Given the description of an element on the screen output the (x, y) to click on. 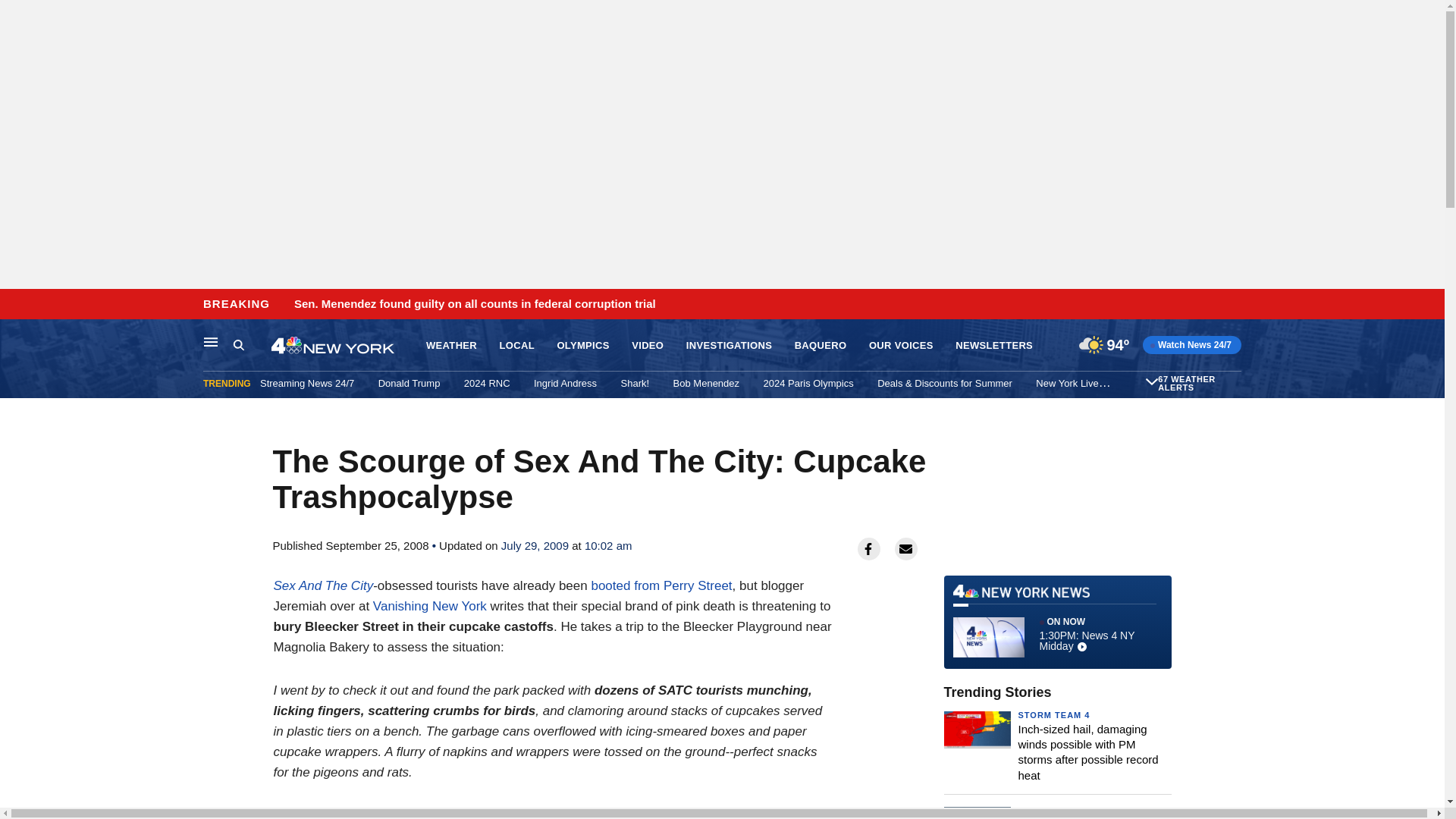
LOCAL (516, 345)
BAQUERO (820, 345)
INVESTIGATIONS (728, 345)
Donald Trump (409, 383)
NEWSLETTERS (993, 345)
Open House (1149, 383)
2024 RNC (487, 383)
Sex and the City (322, 585)
Bob Menendez (705, 383)
Main Navigation (210, 341)
WEATHER (451, 345)
Skip to content (16, 304)
OUR VOICES (901, 345)
Expand (1151, 381)
